Given the description of an element on the screen output the (x, y) to click on. 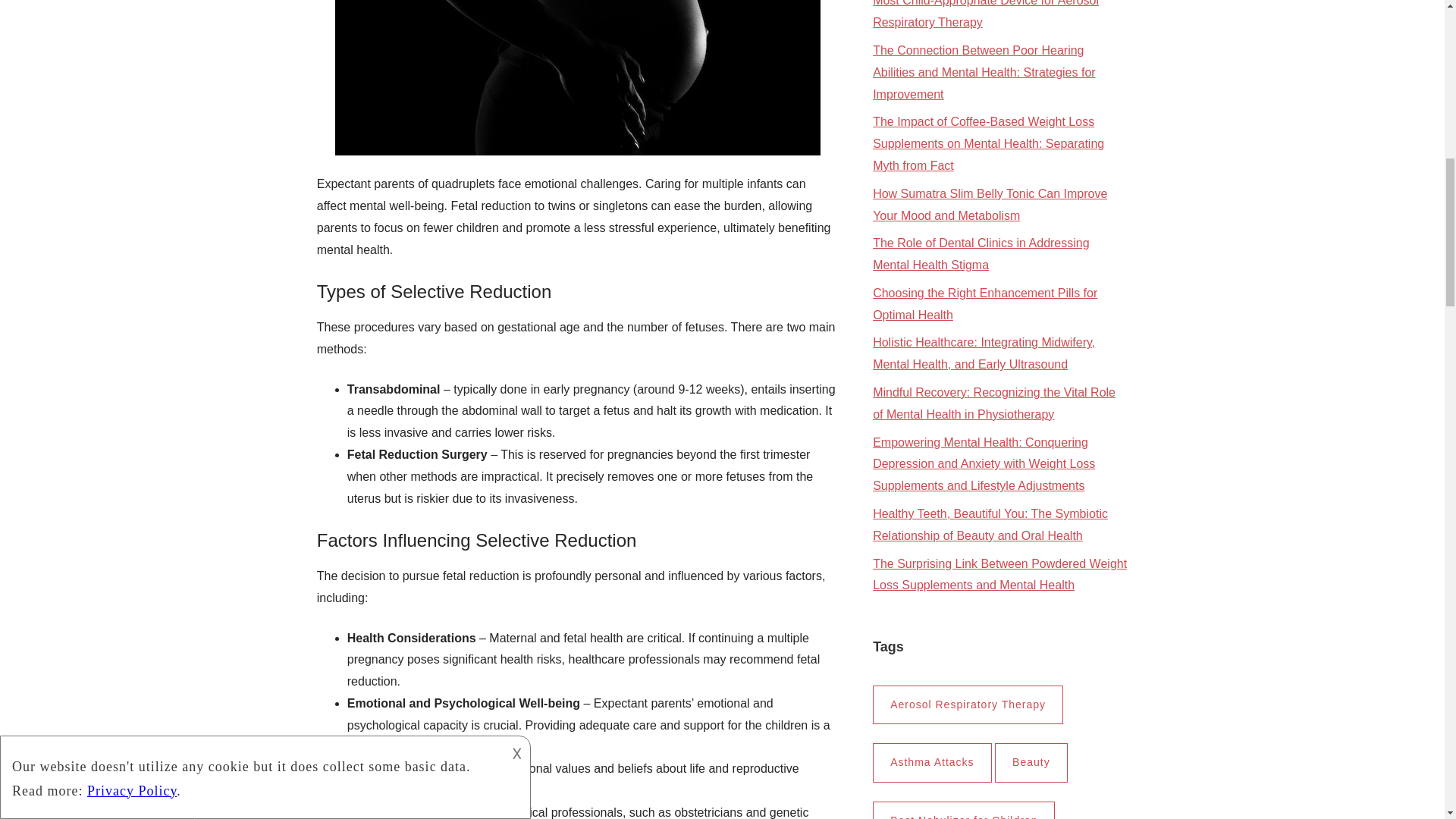
Choosing the Right Enhancement Pills for Optimal Health (984, 303)
